Given the description of an element on the screen output the (x, y) to click on. 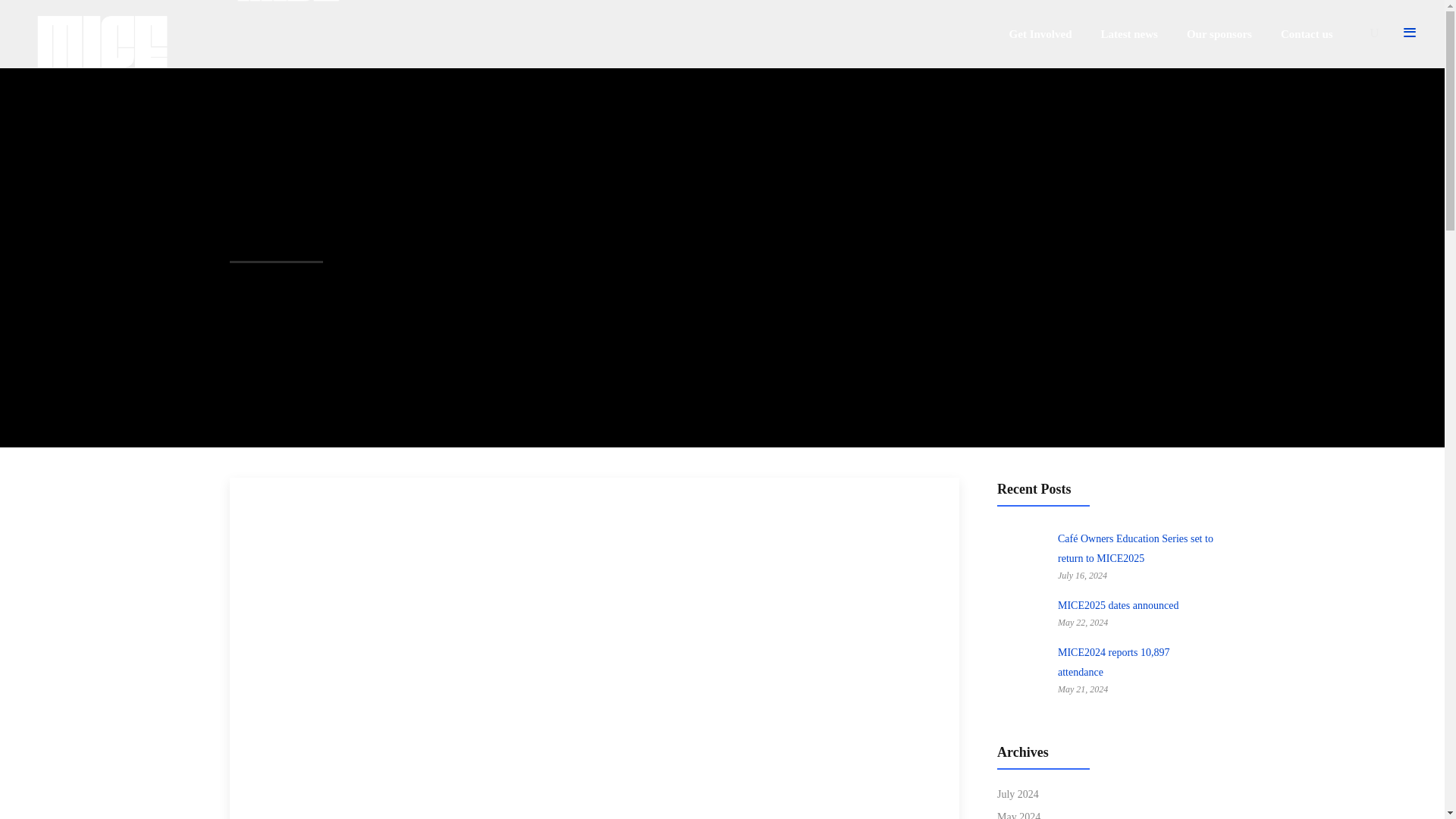
MICE2025 dates announced (1117, 604)
Our sponsors (1219, 33)
Latest news (1129, 33)
MICE2024 reports 10,897 attendance (1113, 662)
Contact us (1307, 33)
MICE2025 dates announced (1022, 615)
News (264, 502)
MICE2024 reports 10,897 attendance (1022, 673)
Get Involved (1040, 33)
Search (979, 487)
